Given the description of an element on the screen output the (x, y) to click on. 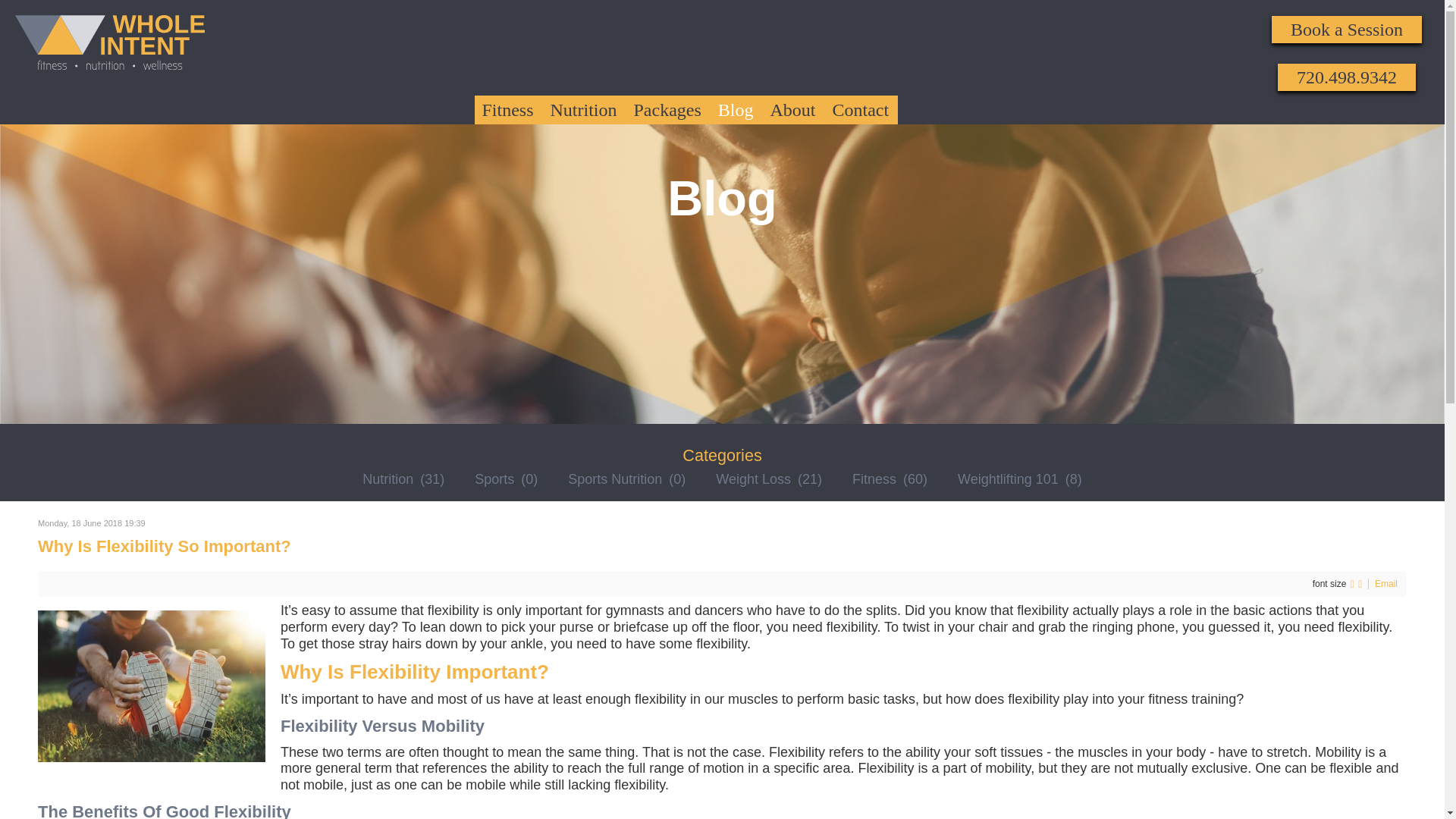
Email (1385, 583)
Book a Session (1346, 29)
Nutrition (583, 109)
Packages (667, 109)
Blog (735, 109)
Contact (860, 109)
Fitness (507, 109)
About (793, 109)
720.498.9342 (1346, 76)
Click to preview image (150, 685)
